Given the description of an element on the screen output the (x, y) to click on. 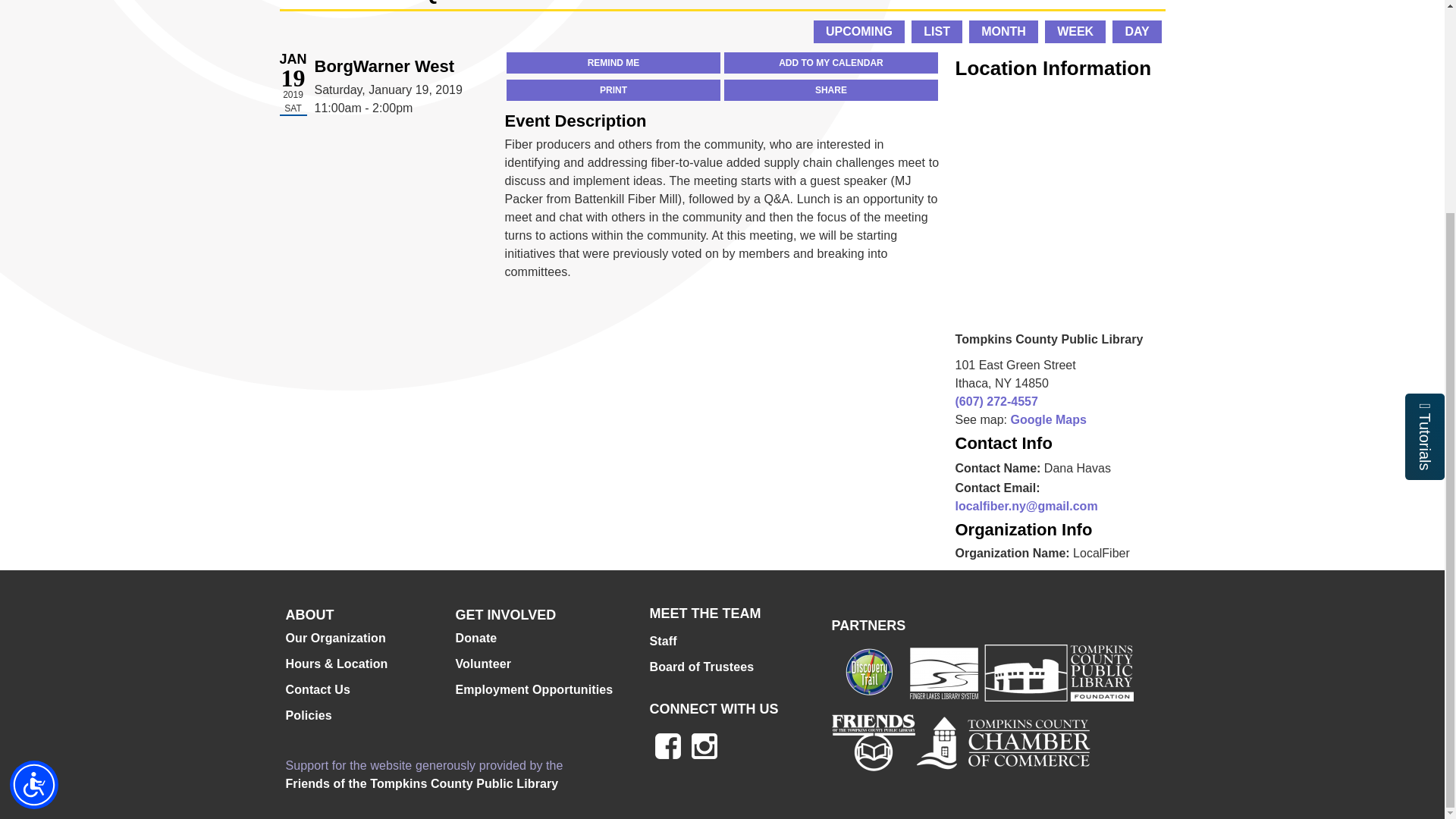
Remind Me (612, 62)
Tompkins County Chamber of Commerce (1002, 742)
Discovery Trail (869, 672)
Add To My Calendar (830, 62)
Friends of the TCPL (872, 742)
TCPL Foundation (1055, 672)
Share this event (830, 89)
Print this event (612, 89)
Instagram (703, 746)
Finger Lakes Library System (943, 672)
Accessibility Menu (34, 506)
Friends of the Tompkins County Public Library (421, 783)
Facebook (667, 746)
